Given the description of an element on the screen output the (x, y) to click on. 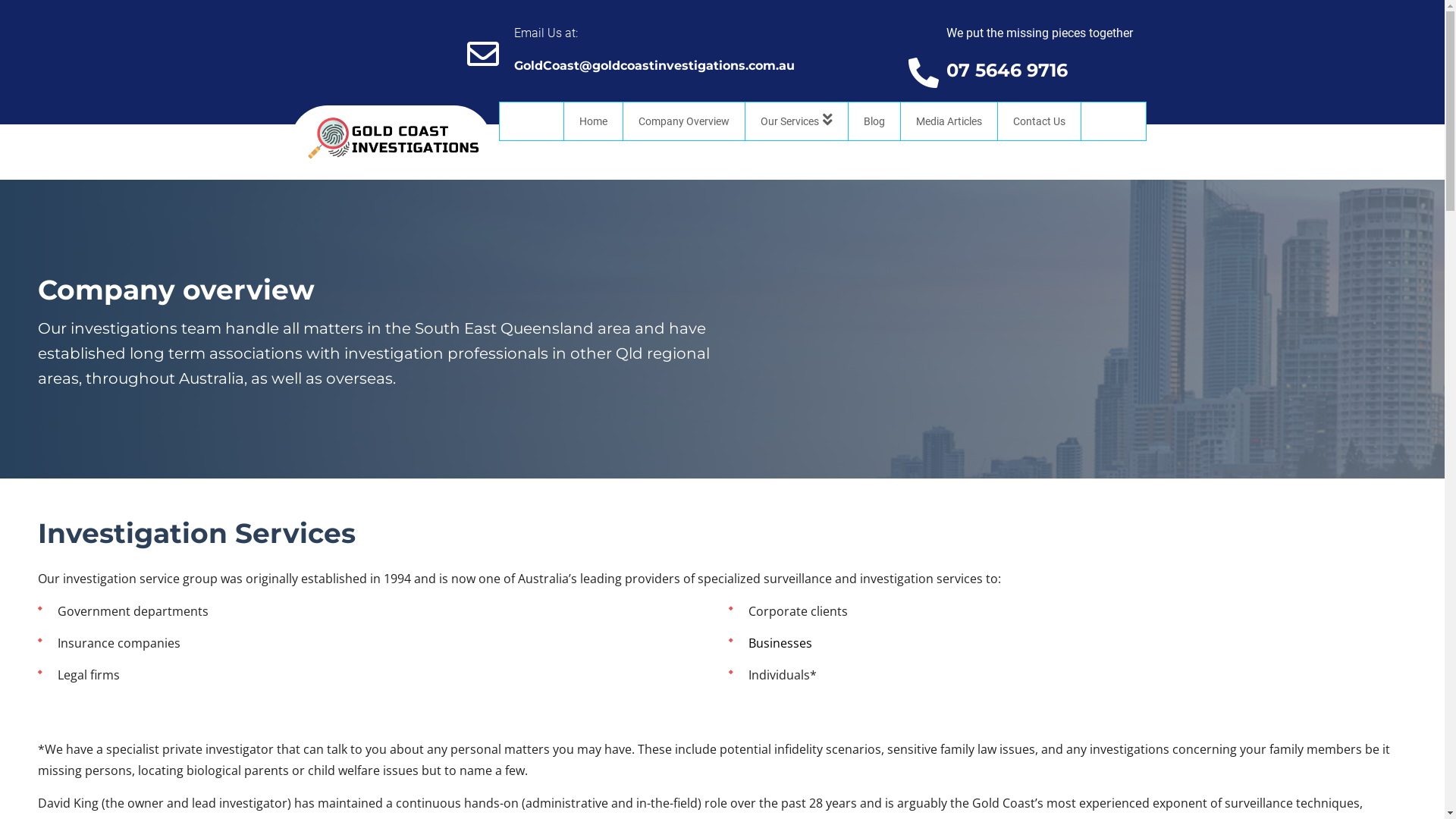
Contact Us Element type: text (1039, 121)
Businesses Element type: text (779, 642)
Home Element type: text (593, 121)
Company Overview Element type: text (684, 121)
Our Services Element type: text (796, 121)
Blog Element type: text (874, 121)
Media Articles Element type: text (948, 121)
